Given the description of an element on the screen output the (x, y) to click on. 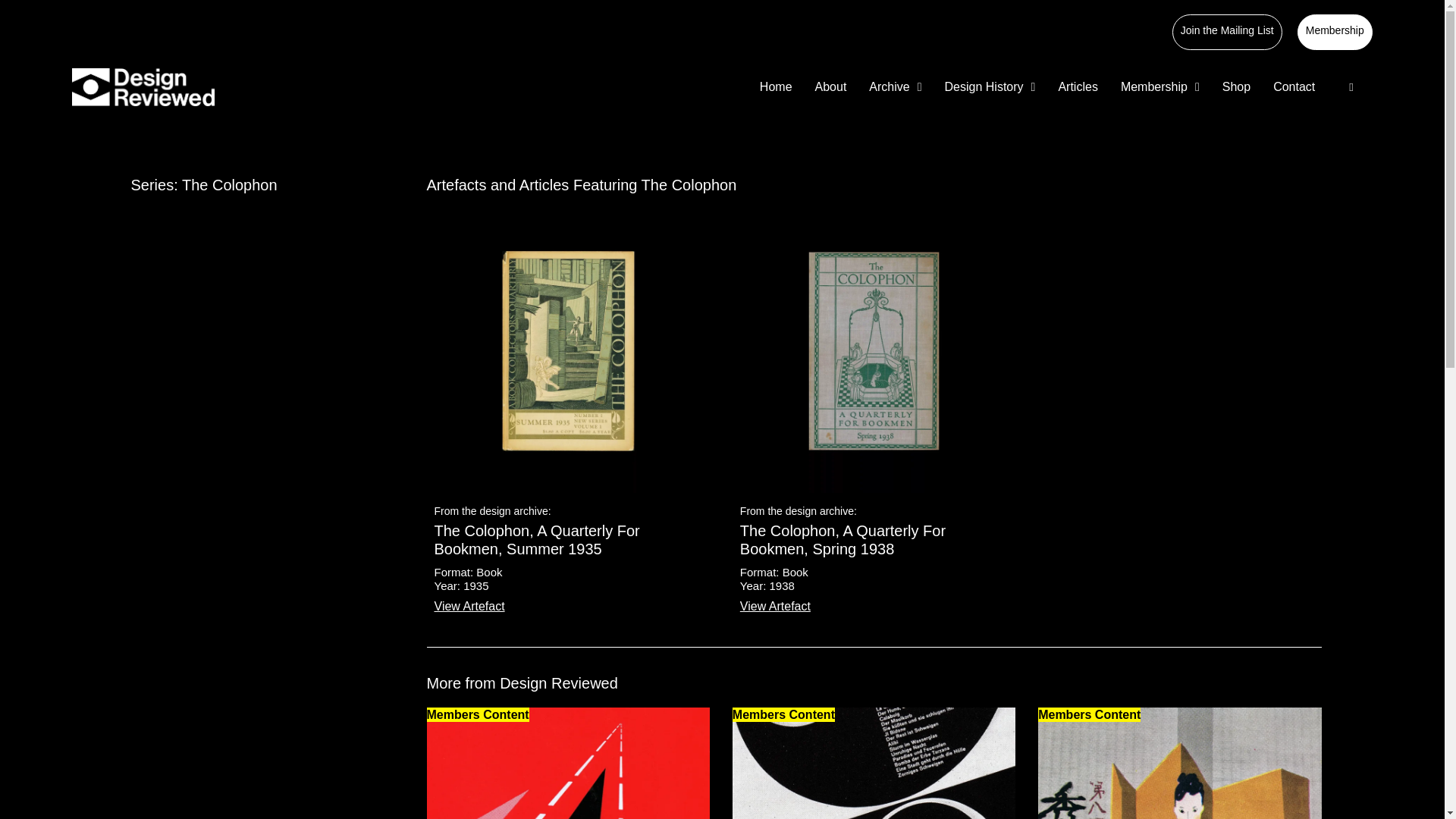
The Colophon, A Quarterly For Bookmen, Spring 1938 (873, 350)
The Colophon, A Quarterly For Bookmen, Summer 1935 (567, 350)
Join the Mailing List (1227, 30)
Home (776, 86)
About (831, 86)
Membership (1335, 30)
Archive (895, 86)
